Given the description of an element on the screen output the (x, y) to click on. 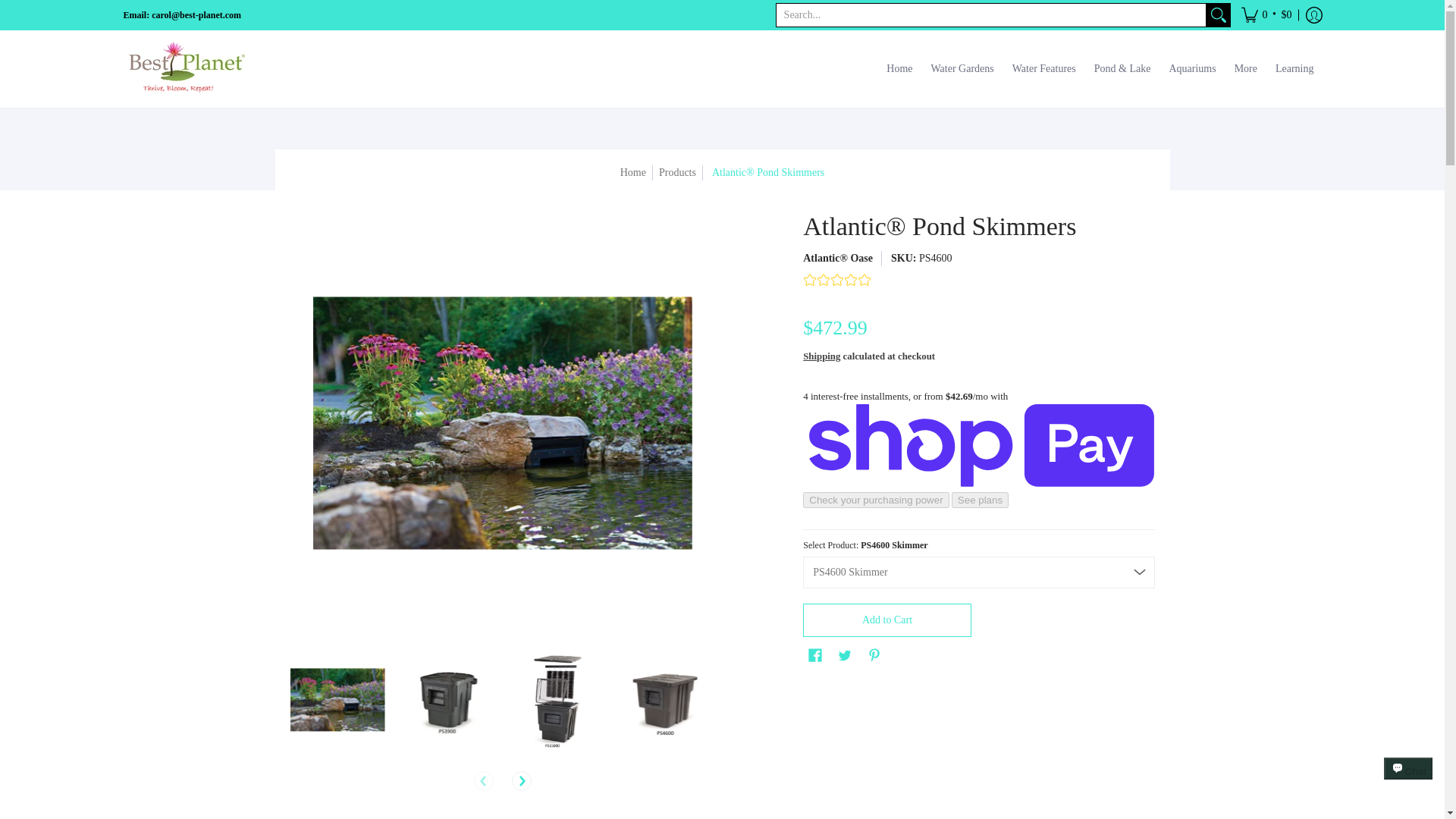
Water Gardens (962, 68)
Log in (1312, 15)
Cart (1266, 15)
Best Planet (186, 68)
Water Gardens (962, 68)
